Given the description of an element on the screen output the (x, y) to click on. 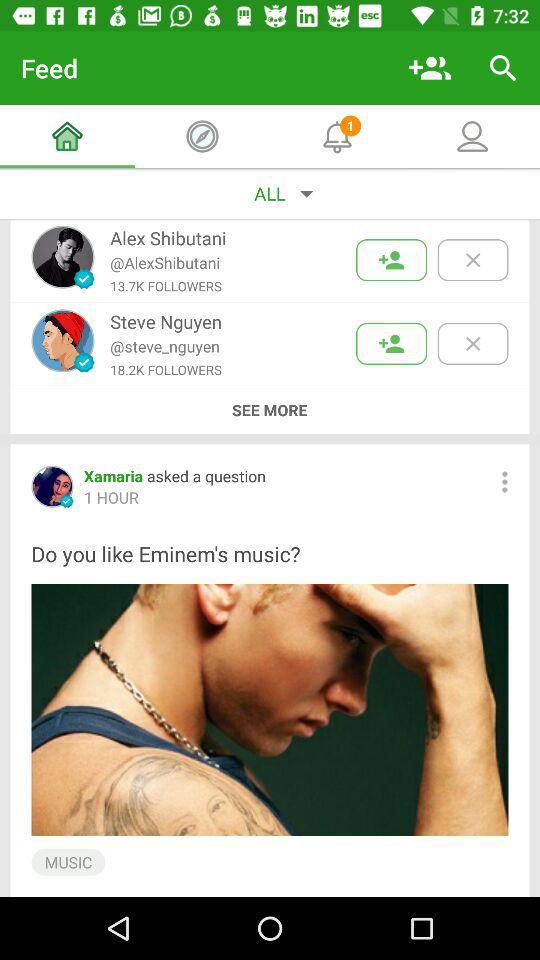
cancel action (472, 260)
